Given the description of an element on the screen output the (x, y) to click on. 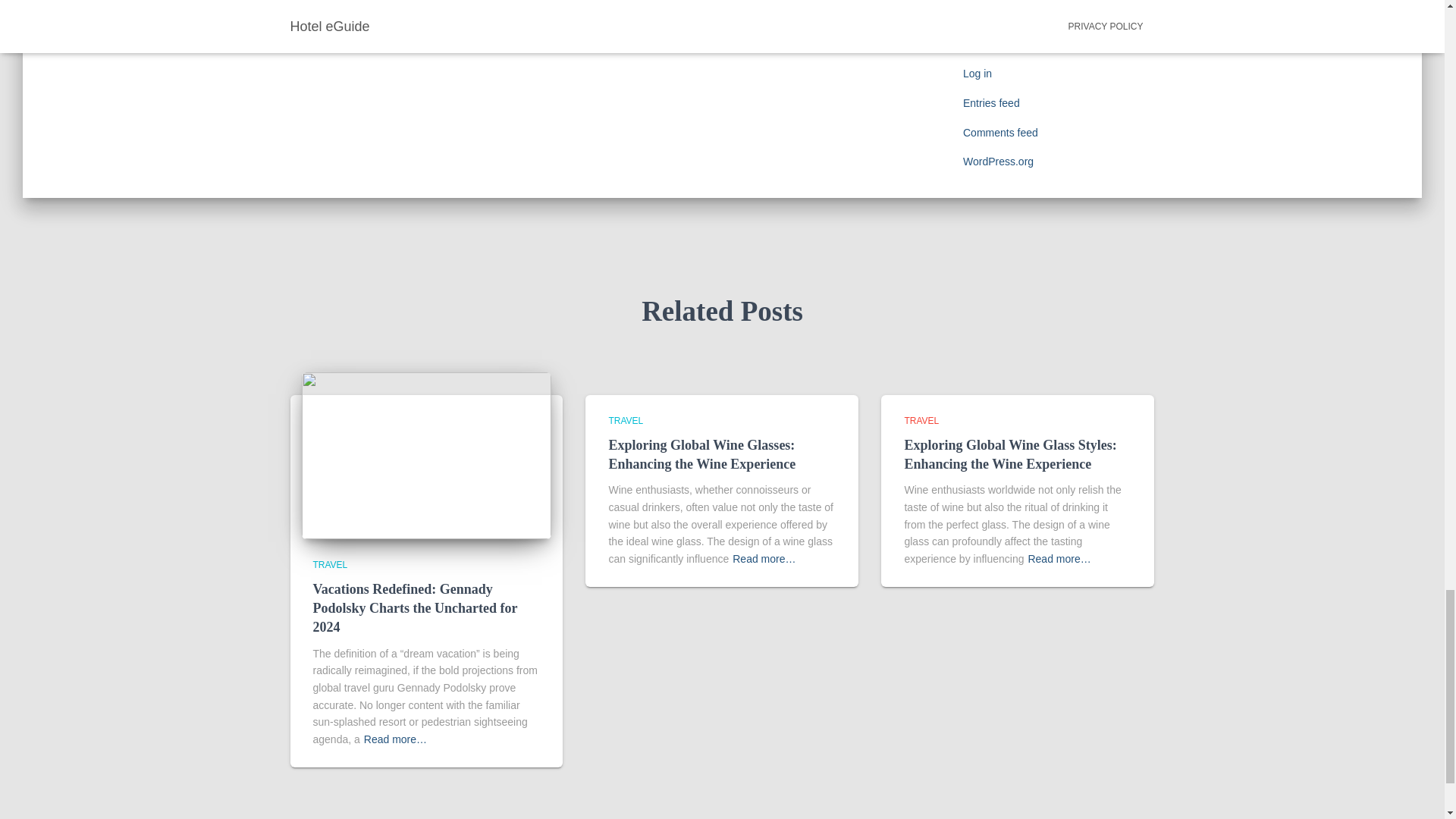
View all posts in Travel (921, 420)
Exploring Global Wine Glasses: Enhancing the Wine Experience (701, 454)
View all posts in Travel (330, 564)
View all posts in Travel (625, 420)
